Given the description of an element on the screen output the (x, y) to click on. 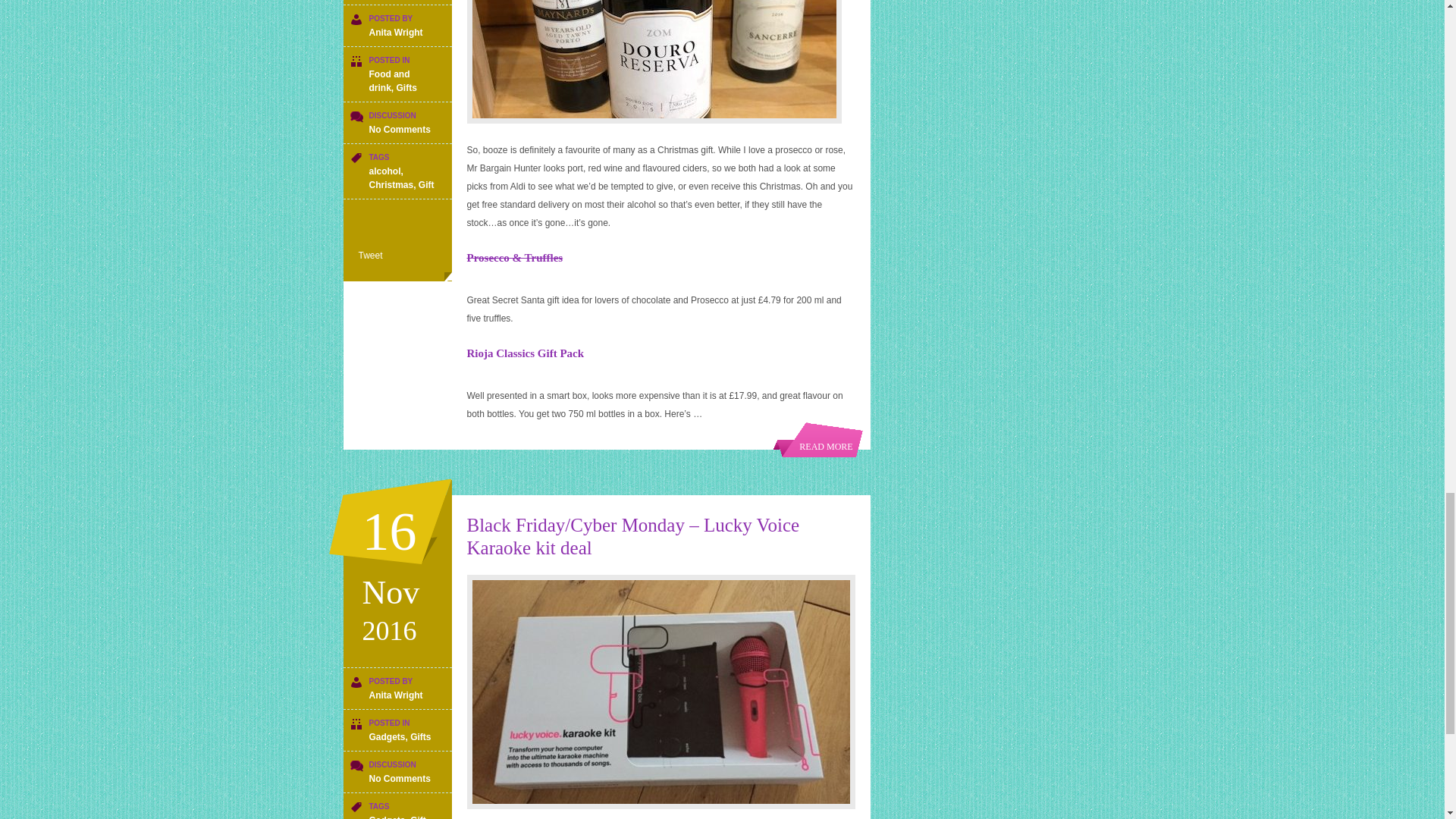
Posts by Anita Wright (395, 32)
